Given the description of an element on the screen output the (x, y) to click on. 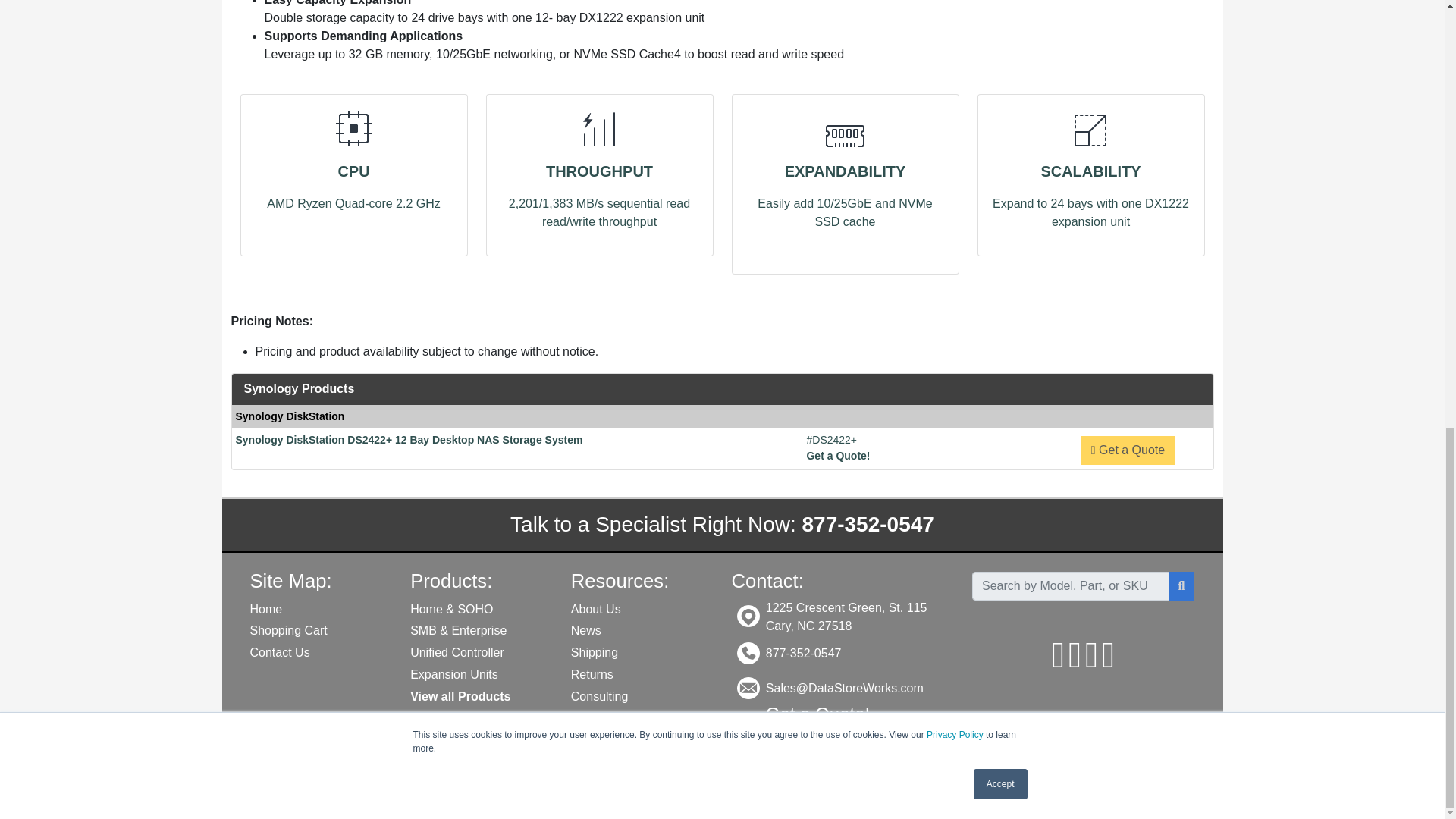
Facebook page (1058, 662)
Youtube page (1091, 662)
Twitter page (1074, 662)
LinkedIn page (1108, 662)
